Given the description of an element on the screen output the (x, y) to click on. 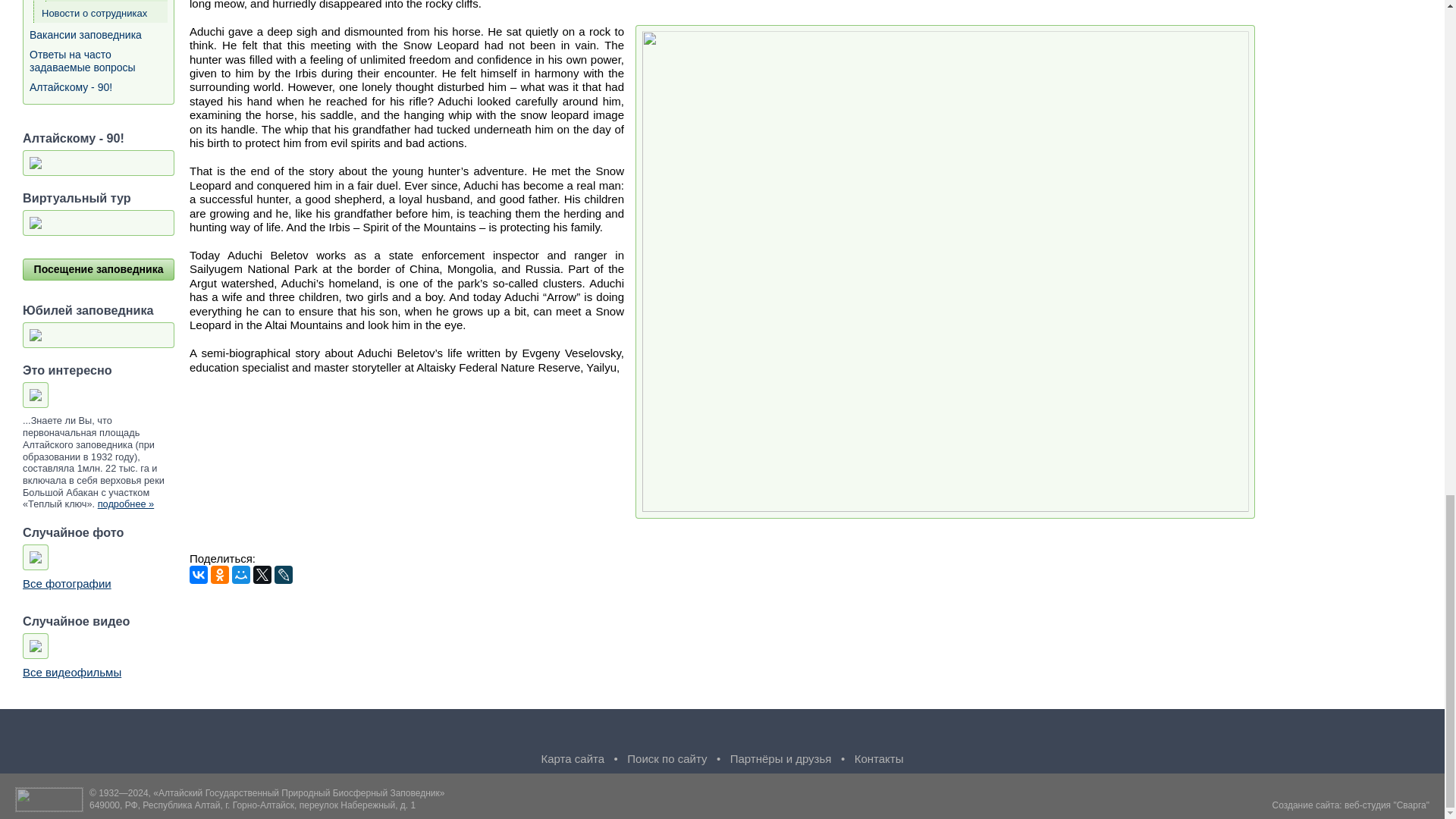
Twitter (261, 574)
Telegram (630, 732)
LiveJournal (283, 574)
